Given the description of an element on the screen output the (x, y) to click on. 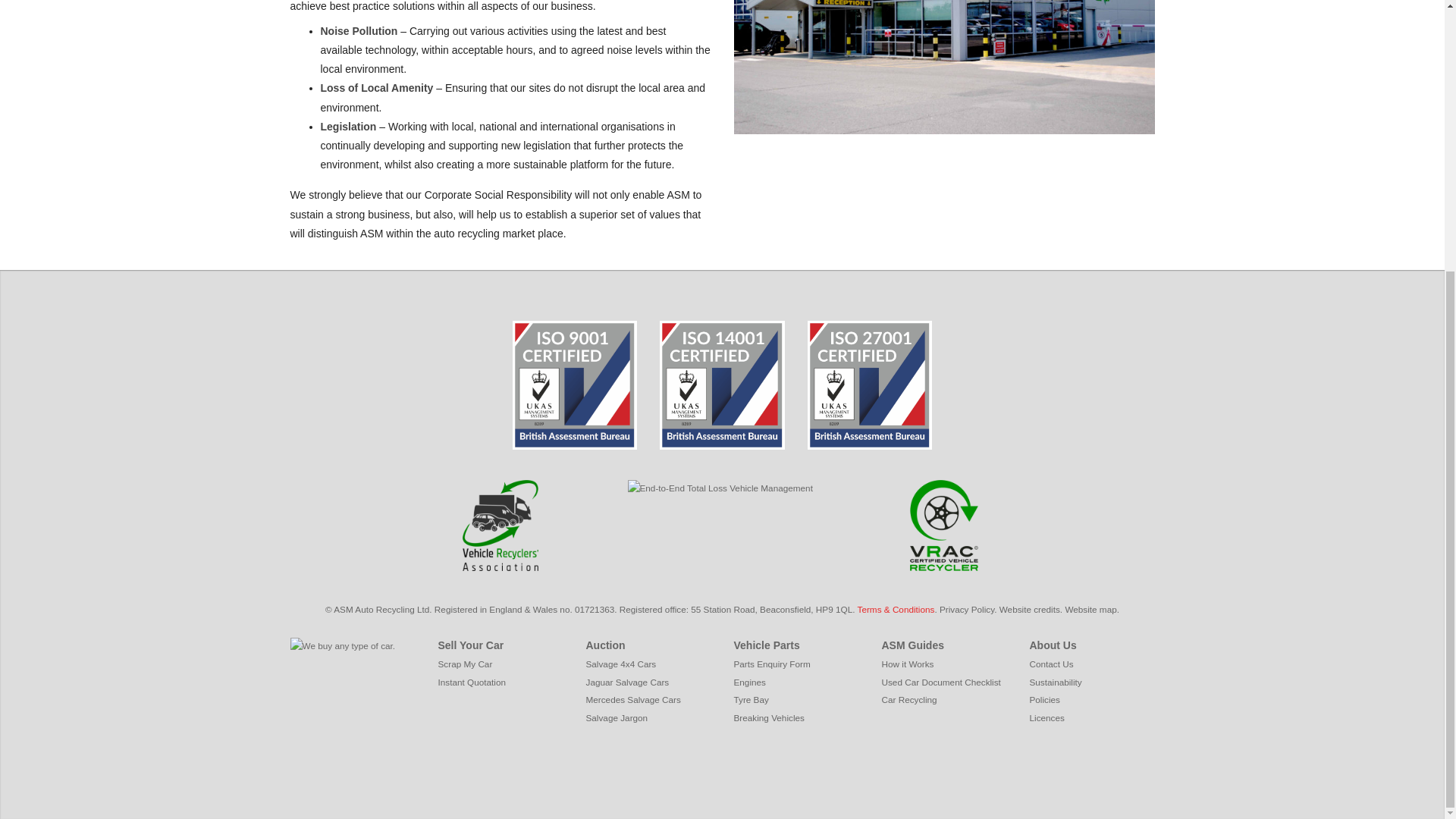
Salvage Jargon (616, 717)
Salvage 4x4 Cars (620, 664)
Mercedes Salvage Cars (632, 699)
ISO 14001 Certificate of Environmental Assurance (721, 385)
Vehicle Parts (766, 645)
ASM building in Thame near Oxford (943, 67)
Website map (1090, 609)
Used Vehicle Parts (766, 645)
Instant Quotation (472, 682)
Number (565, 609)
Sell Your Car (470, 645)
End-to-End Total Loss Vehicle Management (721, 487)
Website credits (1028, 609)
ISO 27001 Certificate of Information Security (869, 385)
ASM Auto Recycling Ltd. (381, 609)
